Given the description of an element on the screen output the (x, y) to click on. 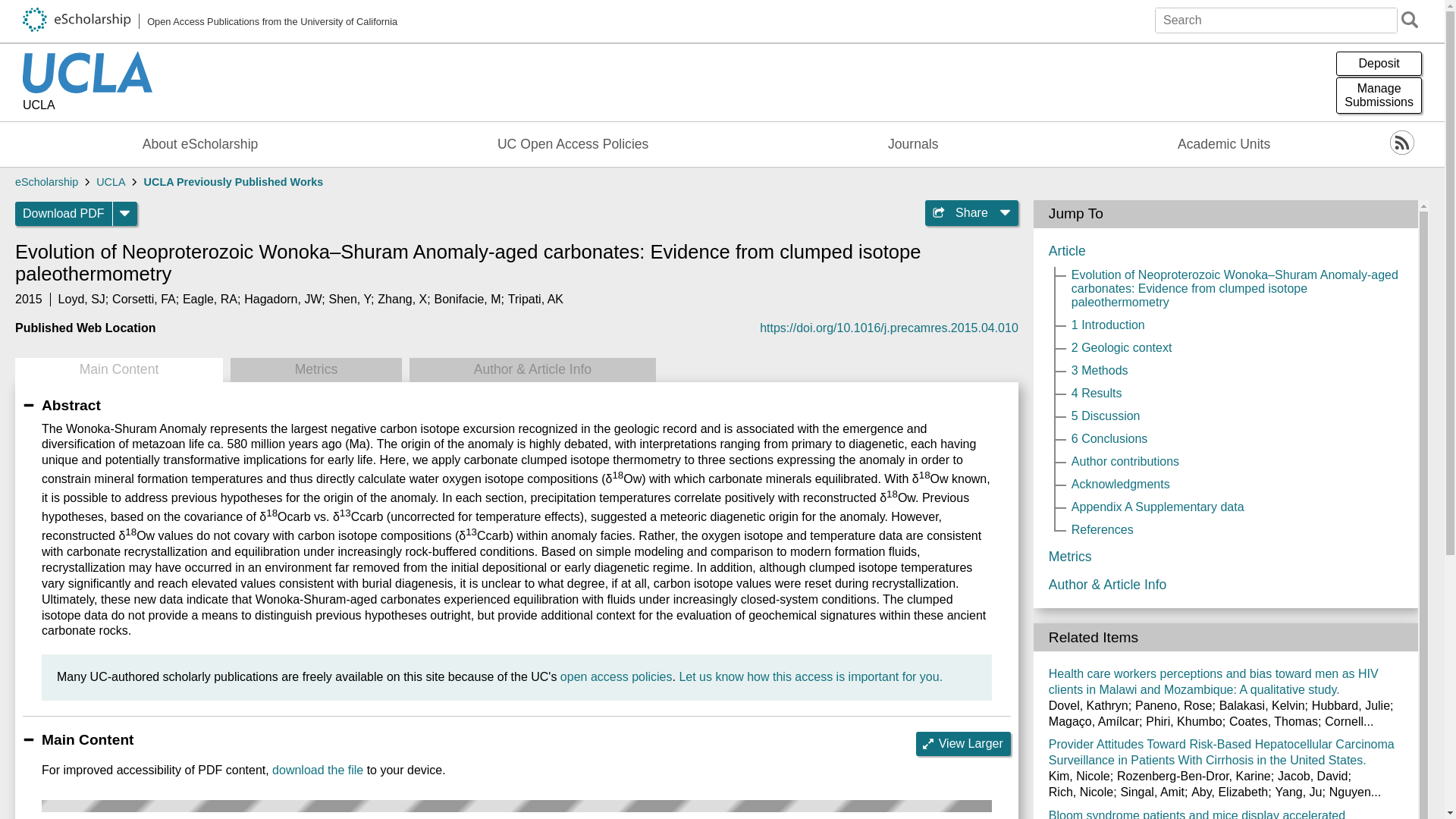
Metrics (315, 369)
Bonifacie, M (466, 298)
Tripati, AK (535, 298)
Loyd, SJ (81, 298)
Journals (913, 143)
UCLA (87, 105)
Deposit (1379, 63)
Shen, Y (350, 298)
Download PDF (63, 213)
Eagle, RA (210, 298)
